Given the description of an element on the screen output the (x, y) to click on. 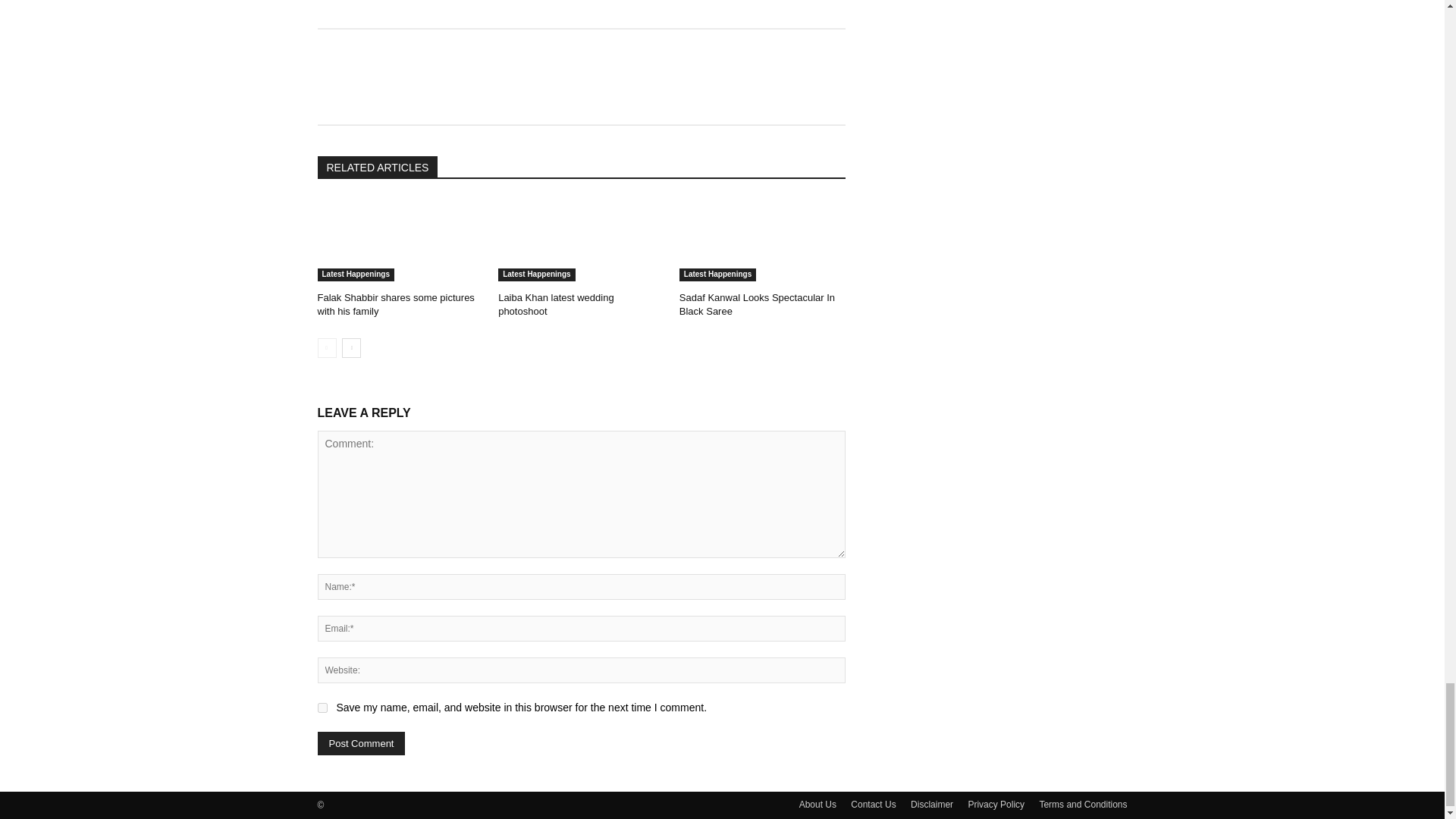
yes (321, 707)
Post Comment (360, 743)
Falak Shabbir shares some pictures with his family (395, 303)
Falak Shabbir shares some pictures with his family (400, 240)
Laiba Khan latest wedding  photoshoot (580, 240)
